Given the description of an element on the screen output the (x, y) to click on. 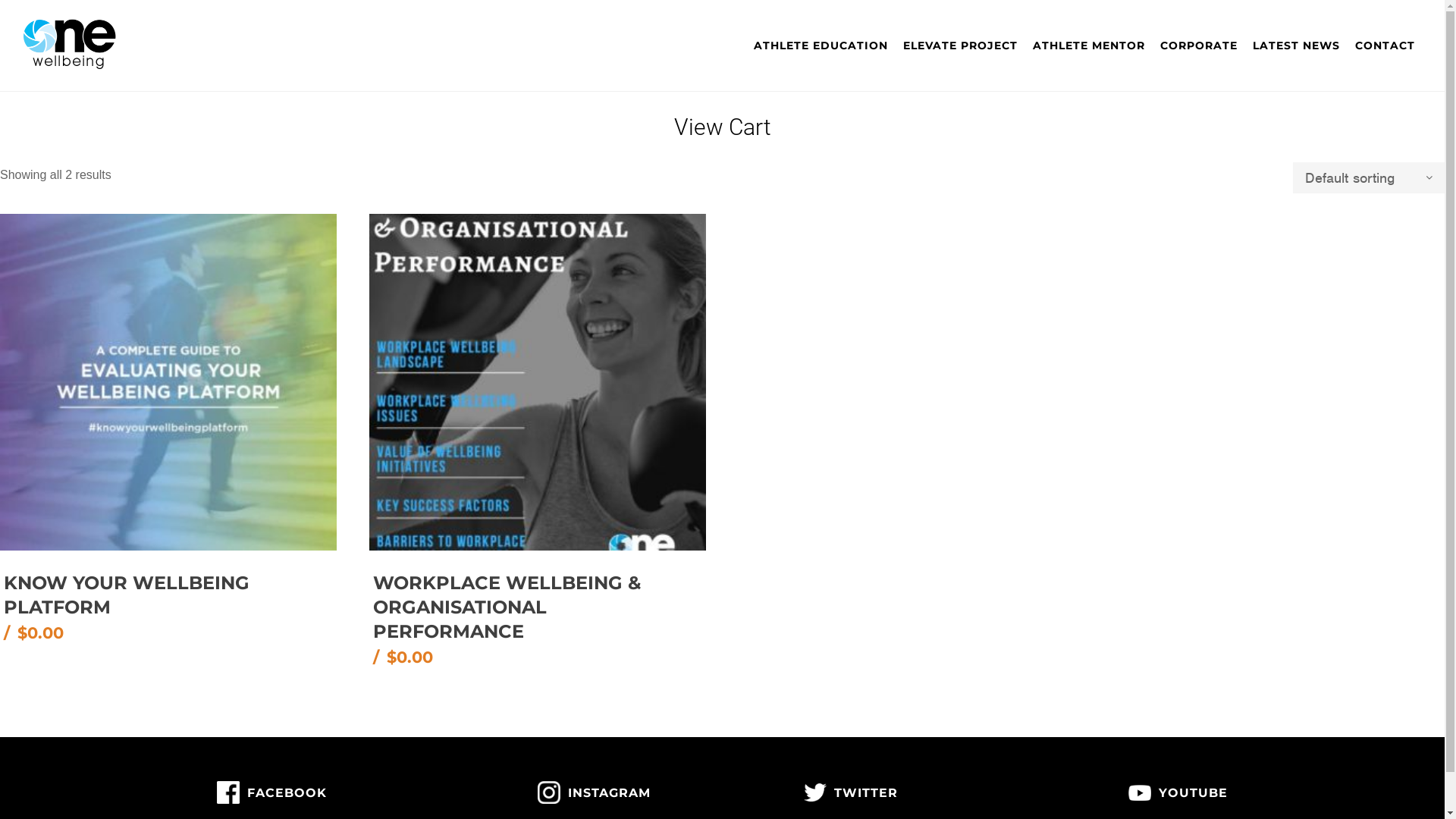
CONTACT Element type: text (1384, 45)
CORPORATE Element type: text (1198, 45)
WORKPLACE WELLBEING & ORGANISATIONAL PERFORMANCE $0.00 Element type: text (539, 614)
YOUTUBE Element type: text (1177, 792)
ATHLETE EDUCATION Element type: text (820, 45)
FACEBOOK Element type: text (271, 792)
INSTAGRAM Element type: text (593, 792)
ATHLETE MENTOR Element type: text (1088, 45)
KNOW YOUR WELLBEING PLATFORM $0.00 Element type: text (169, 602)
LATEST NEWS Element type: text (1296, 45)
Default sorting Element type: text (1368, 177)
ELEVATE PROJECT Element type: text (960, 45)
View Cart Element type: text (721, 126)
TWITTER Element type: text (850, 792)
